Given the description of an element on the screen output the (x, y) to click on. 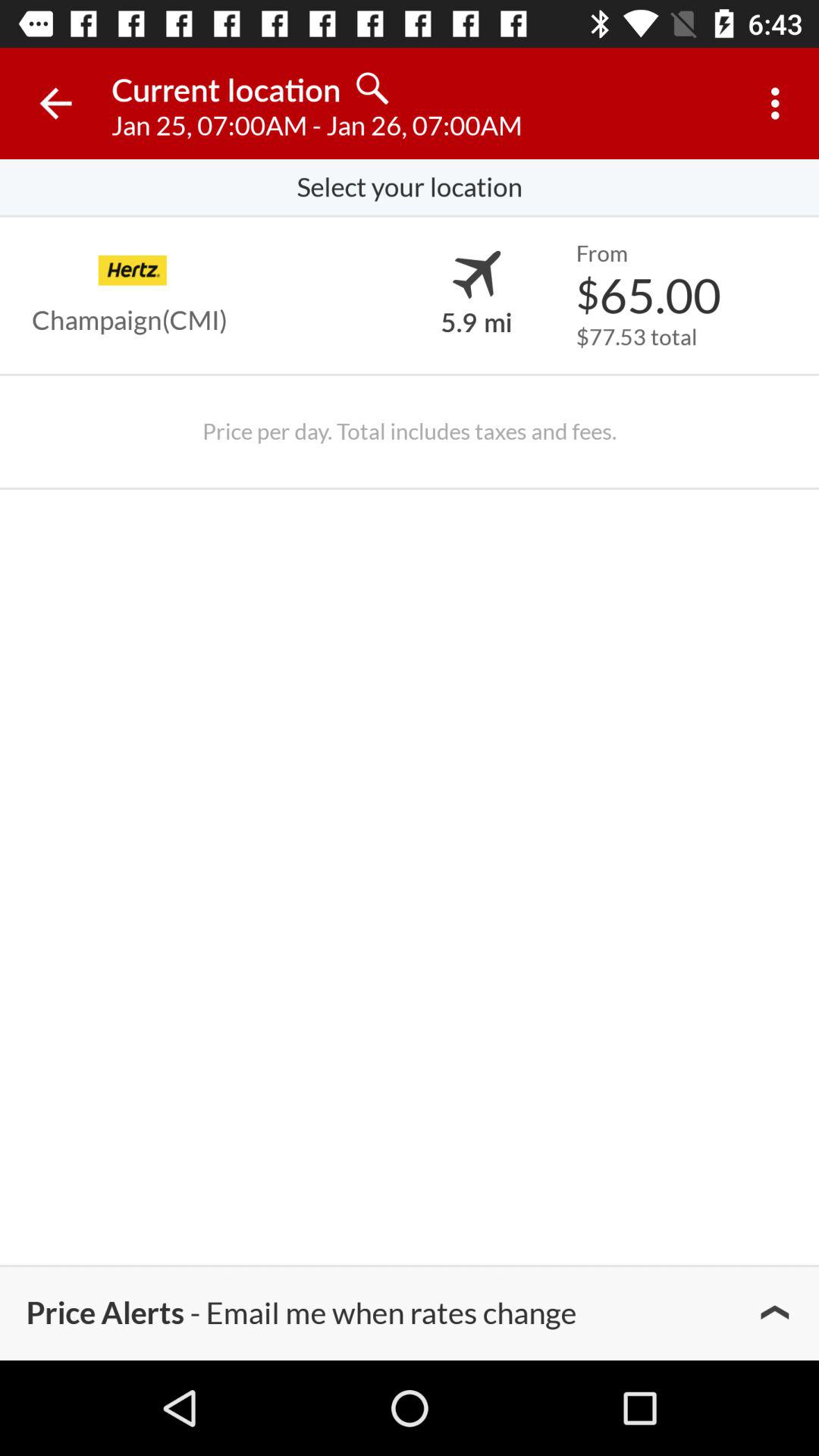
choose the price per day (409, 431)
